Given the description of an element on the screen output the (x, y) to click on. 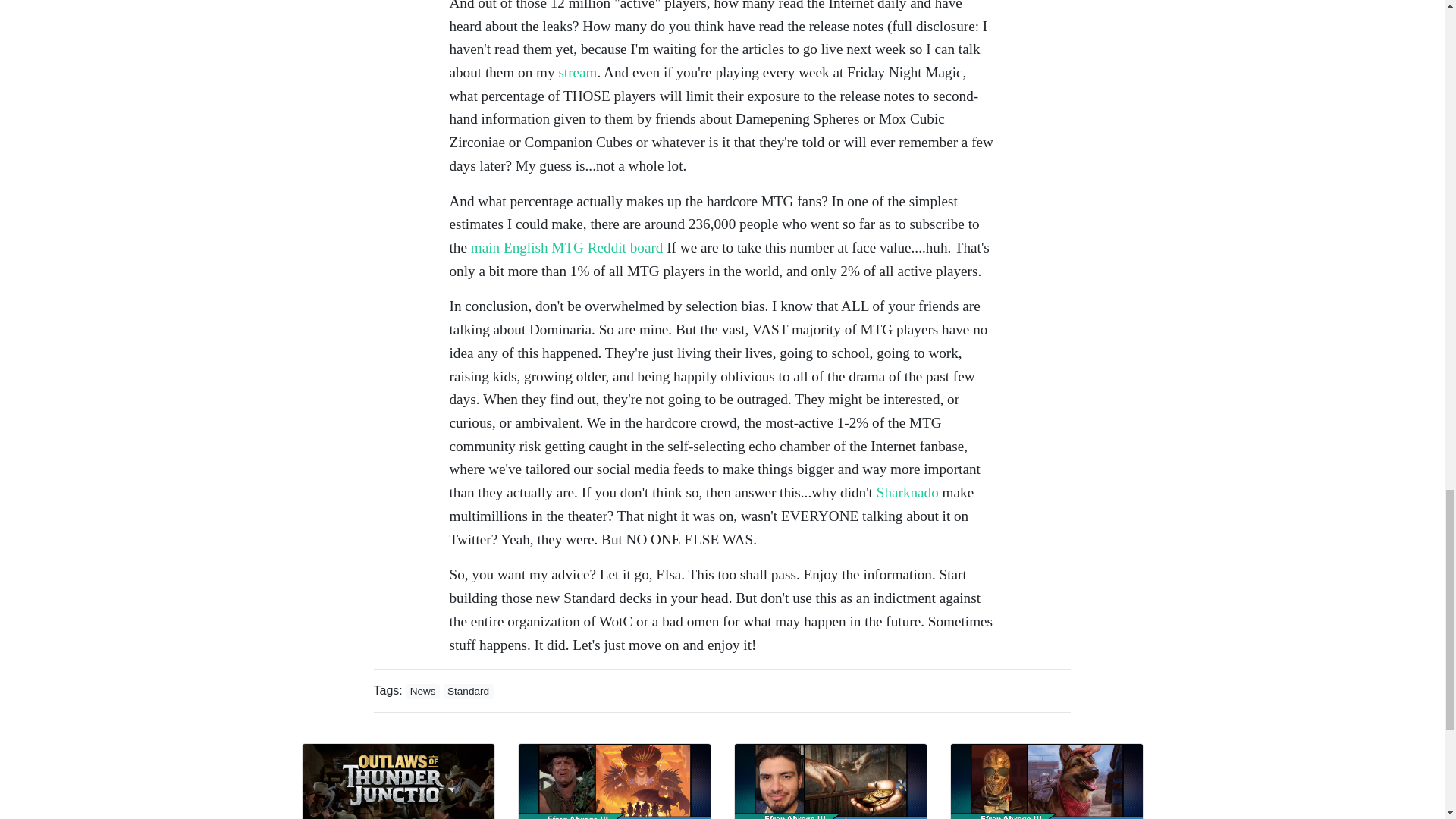
main English MTG Reddit board (566, 247)
Sharknado (907, 492)
News (422, 691)
Standard (468, 691)
stream (576, 72)
